Given the description of an element on the screen output the (x, y) to click on. 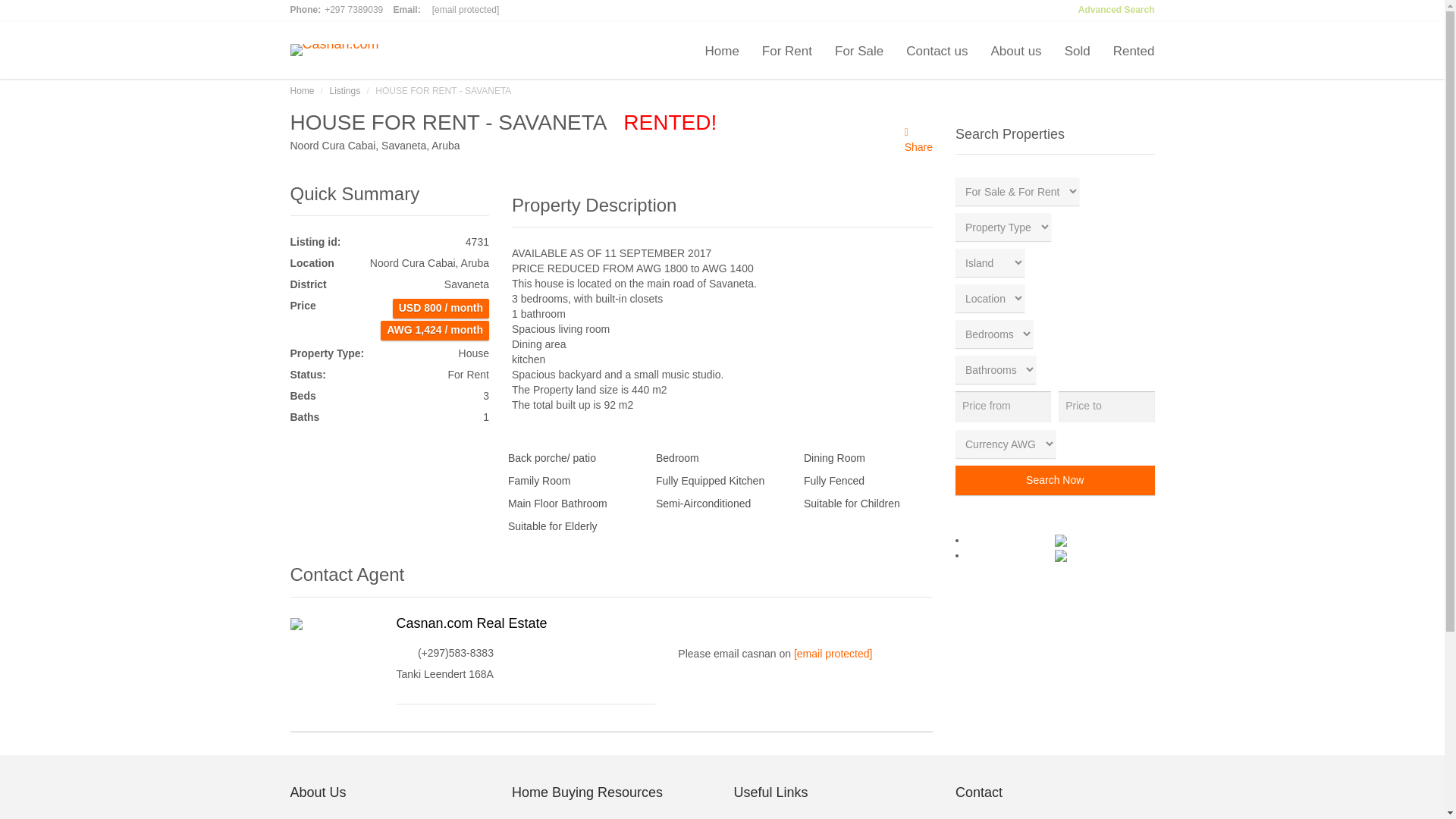
About us (1015, 50)
Advanced Search (1116, 9)
Casnan.com Real Estate (471, 622)
For Rent (787, 50)
Listings (345, 90)
Home (301, 90)
Rented (1128, 50)
For Sale (859, 50)
Share (918, 146)
Sold (1077, 50)
Search Now (1054, 480)
Home (721, 50)
Contact us (936, 50)
